Given the description of an element on the screen output the (x, y) to click on. 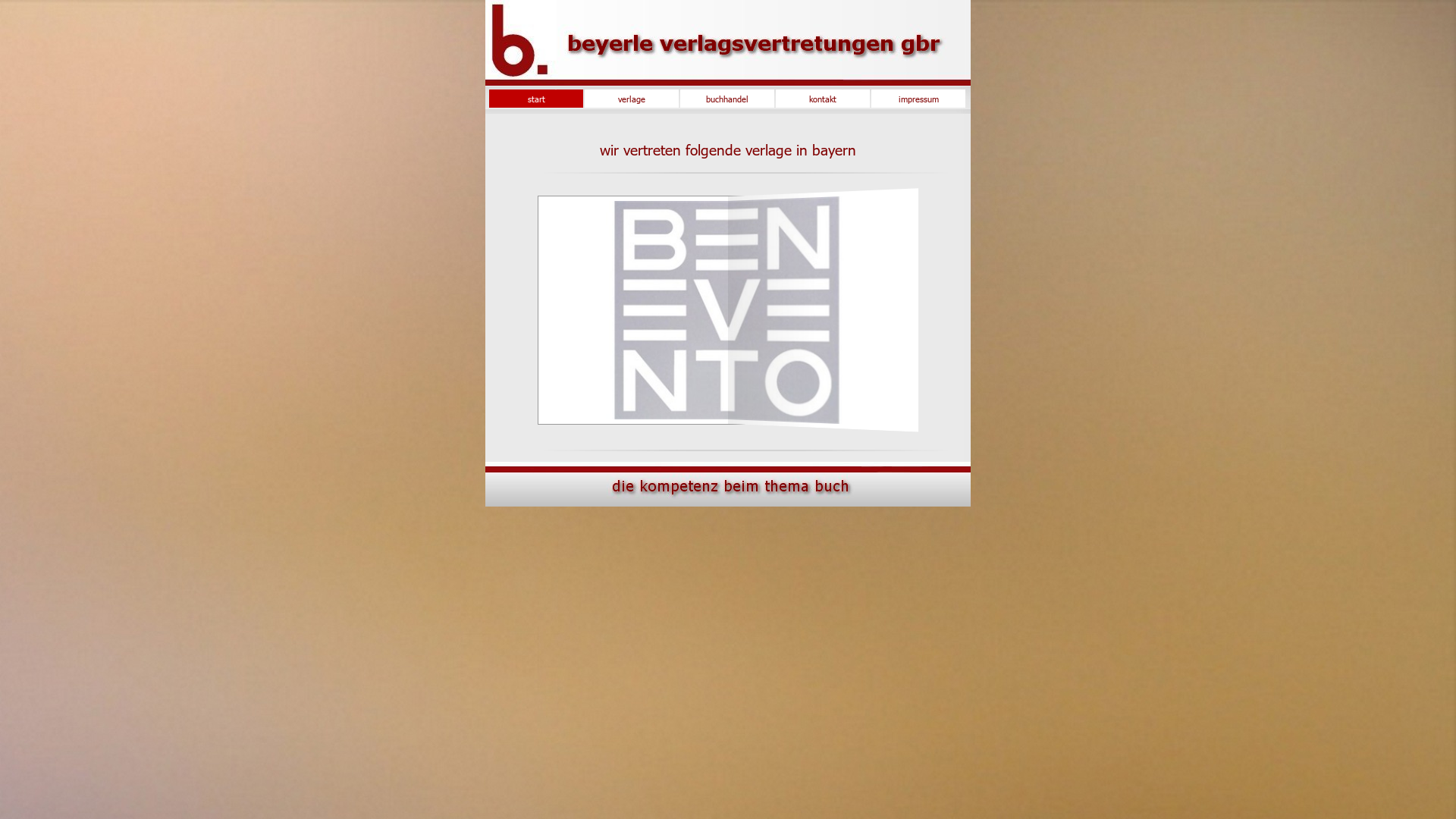
impressum Element type: text (918, 98)
start Element type: text (535, 98)
kontakt Element type: text (822, 98)
verlage Element type: text (631, 98)
